Given the description of an element on the screen output the (x, y) to click on. 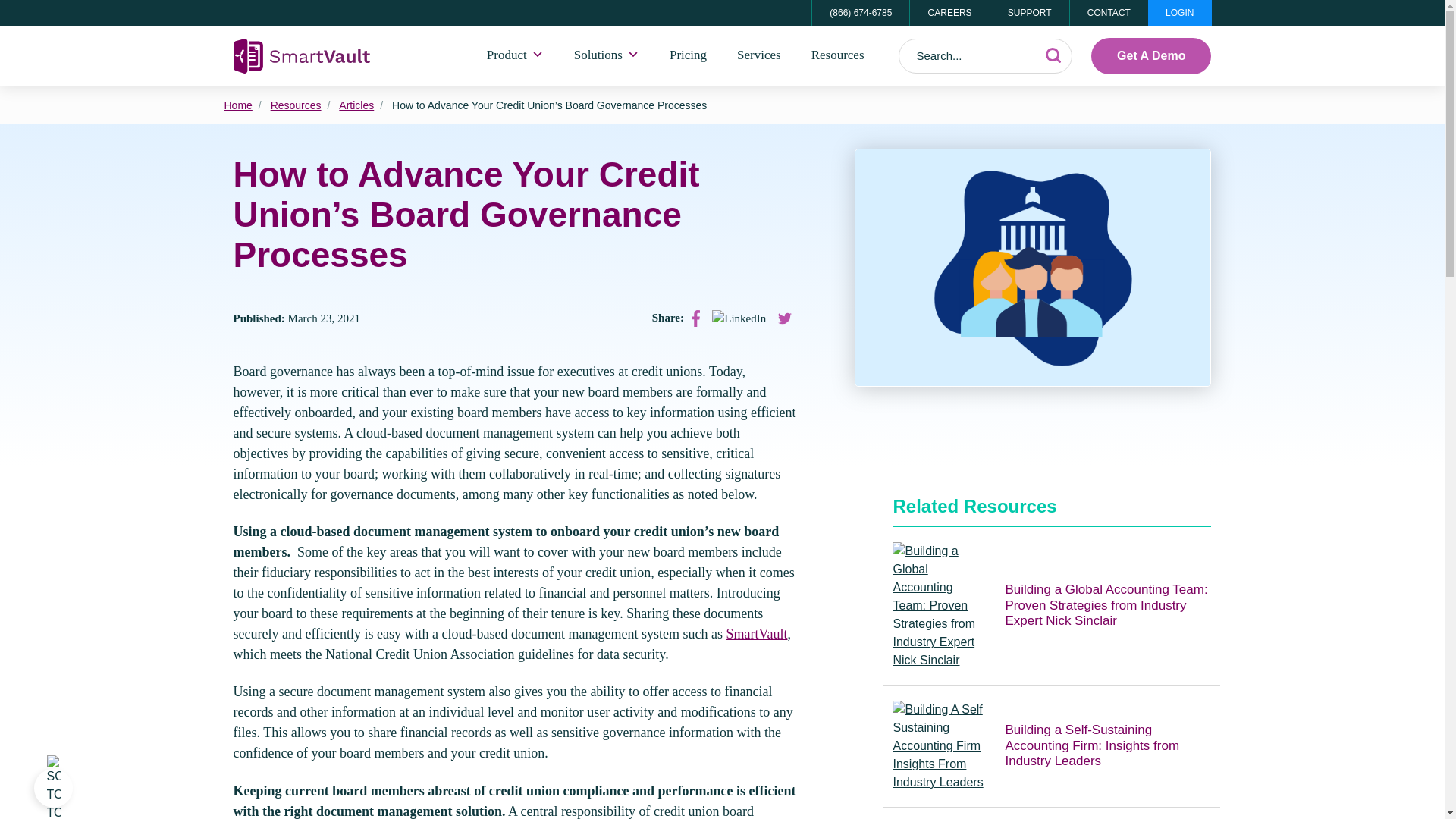
SUPPORT (1029, 12)
Search for: (985, 55)
Login to My.SmartVault.com (1179, 12)
CONTACT (1108, 12)
Contact us (1108, 12)
LOGIN (1179, 12)
Join our team! (948, 12)
Product (515, 55)
Solutions (606, 55)
Check out our Support resources (1029, 12)
